Given the description of an element on the screen output the (x, y) to click on. 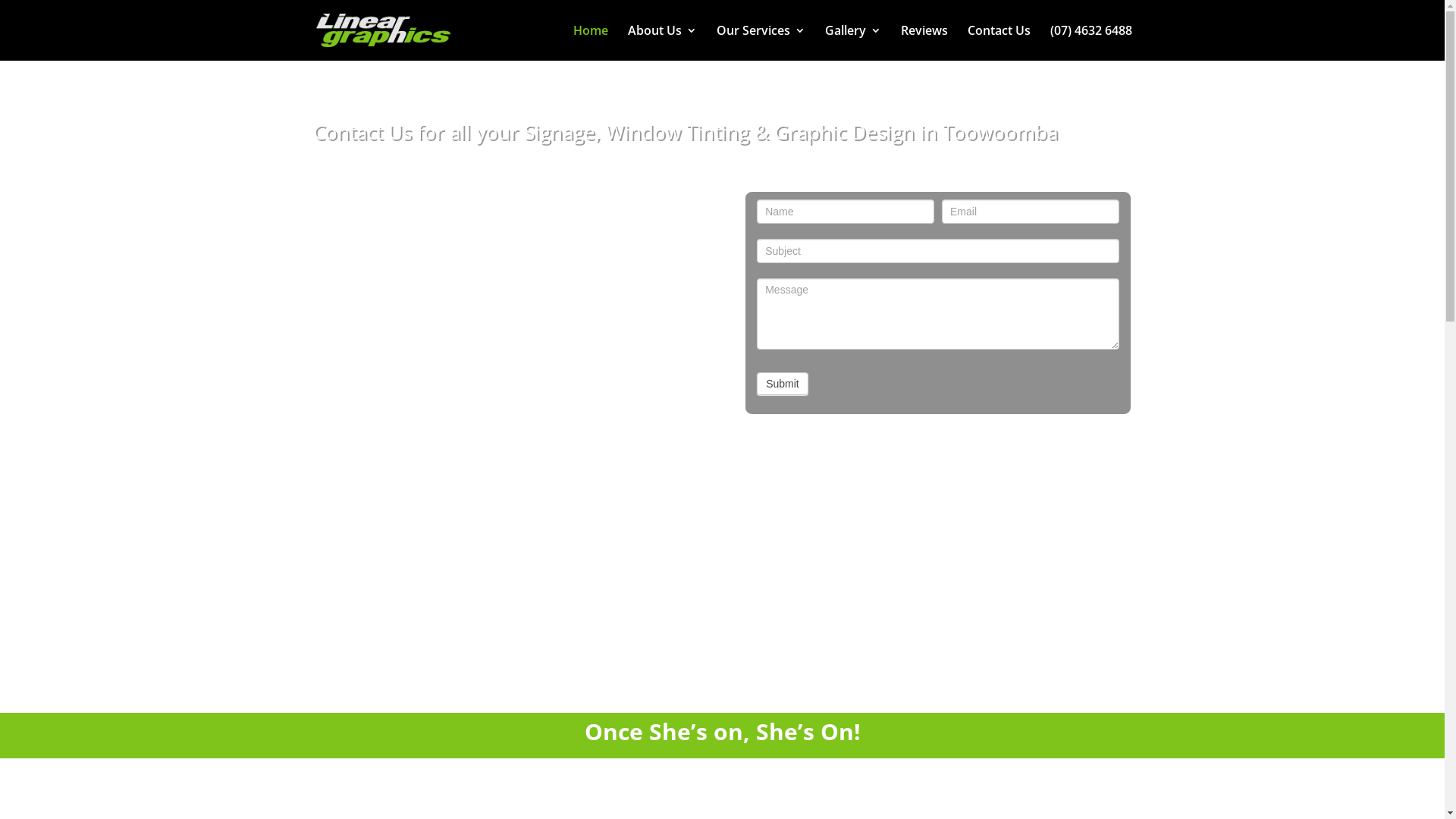
Our Services Element type: text (759, 42)
Reviews Element type: text (923, 42)
(07) 4632 6488 Element type: text (1090, 42)
Home Element type: text (590, 42)
Gallery Element type: text (853, 42)
Who is Linear Graphics Element type: hover (505, 420)
Contact Us Element type: text (998, 42)
Submit Element type: text (782, 383)
About Us Element type: text (661, 42)
